Given the description of an element on the screen output the (x, y) to click on. 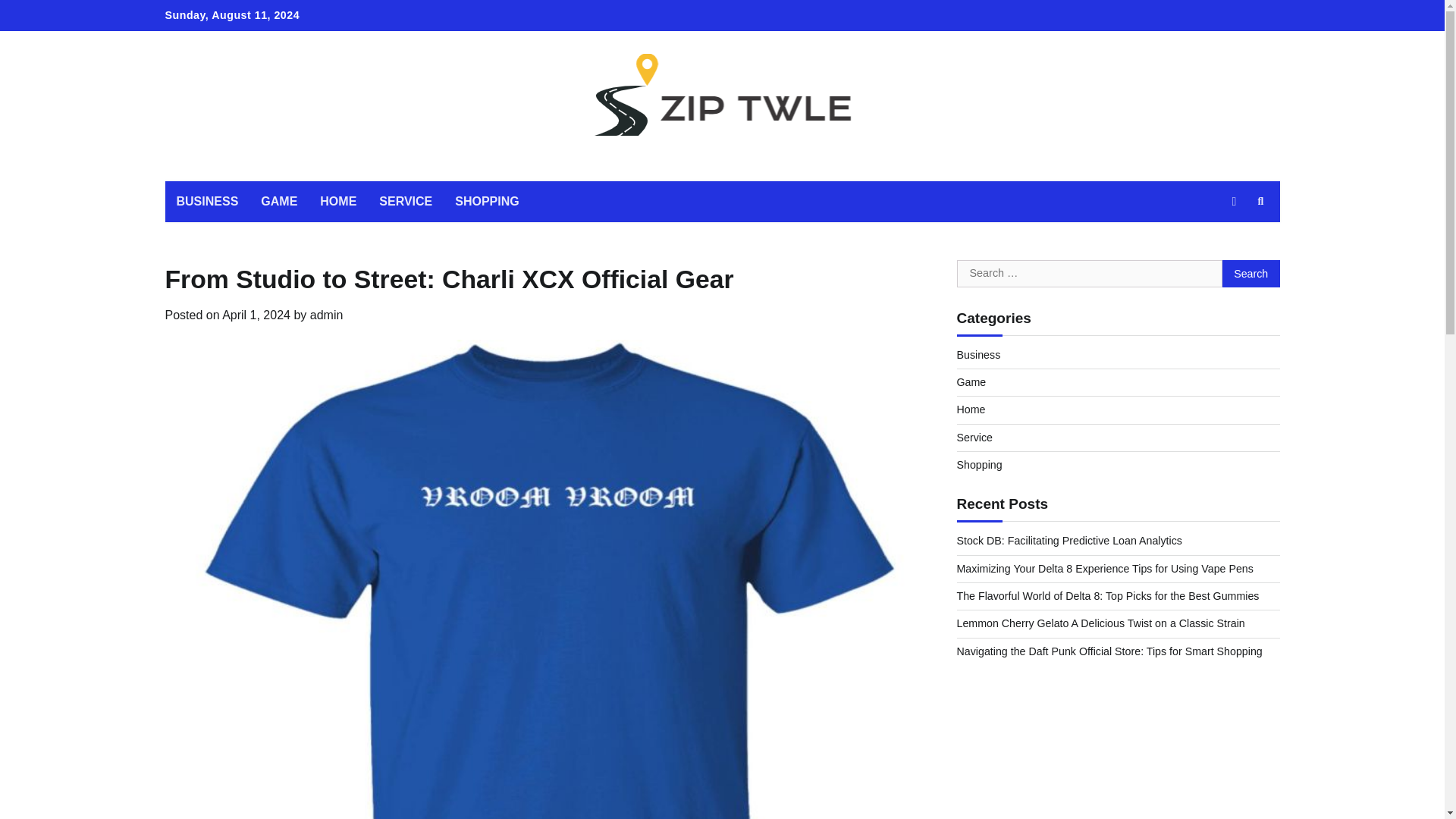
View Random Post (1233, 201)
Home (970, 409)
admin (326, 314)
Service (974, 437)
SHOPPING (486, 200)
Game (971, 381)
GAME (278, 200)
Shopping (979, 464)
SERVICE (406, 200)
